Given the description of an element on the screen output the (x, y) to click on. 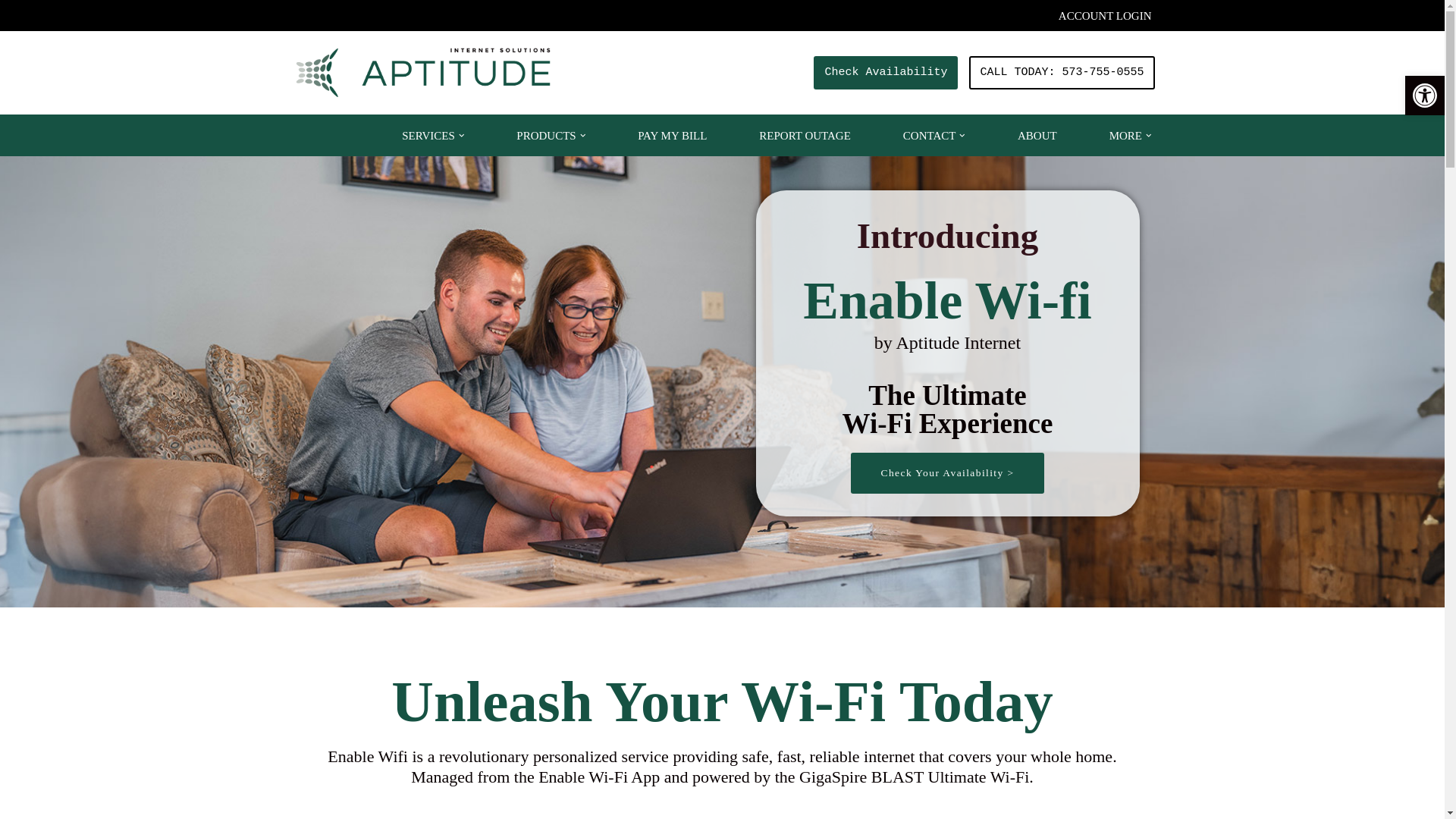
PAY MY BILL (671, 134)
Accessibility Tools (1424, 95)
ACCOUNT LOGIN (1104, 15)
Check Availability (885, 72)
CONTACT (929, 134)
SERVICES (427, 134)
PRODUCTS (545, 134)
CALL TODAY: 573-755-0555 (1061, 72)
ABOUT (1037, 134)
MORE (1125, 134)
